Given the description of an element on the screen output the (x, y) to click on. 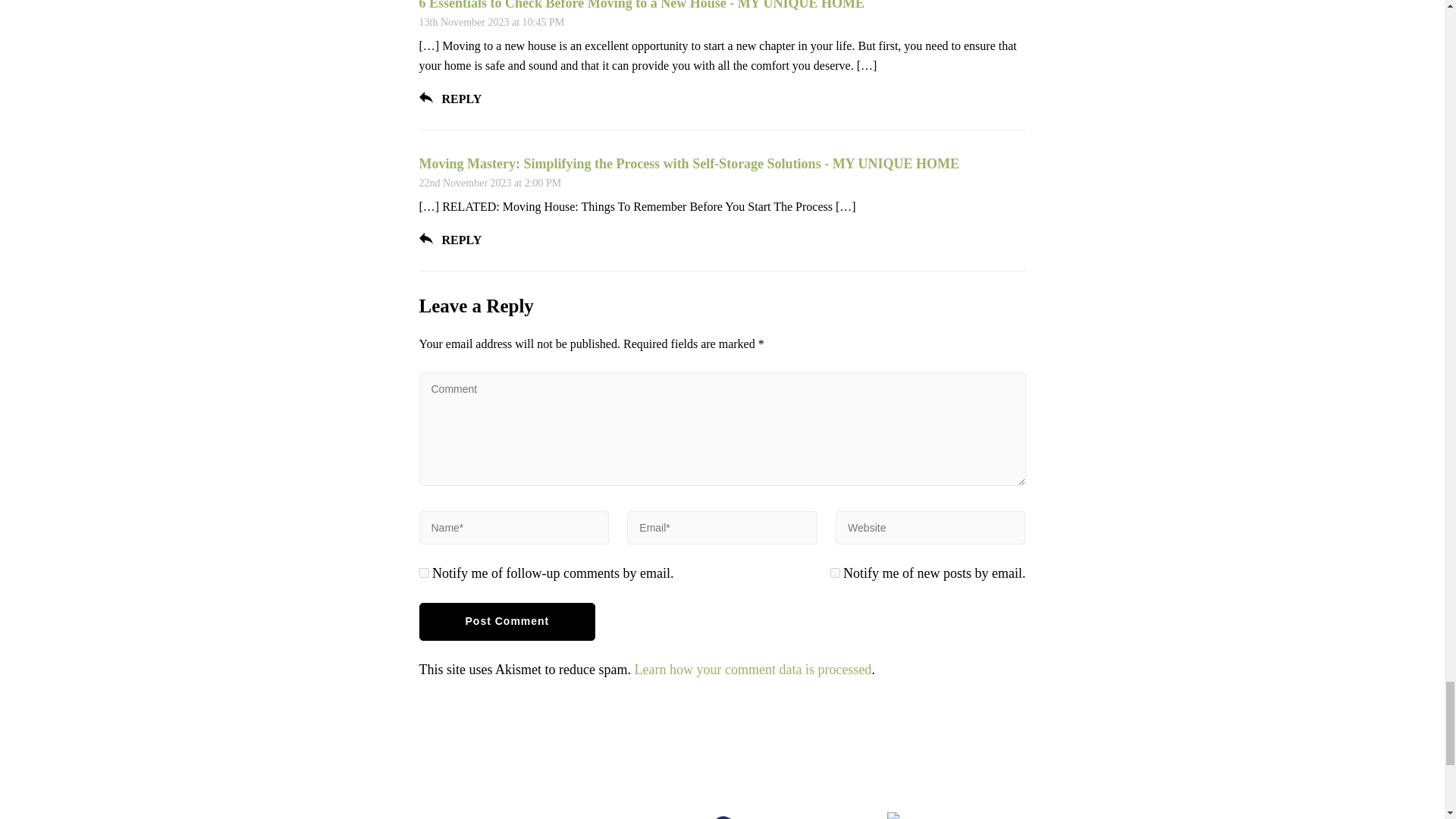
subscribe (834, 573)
Post Comment (507, 621)
subscribe (423, 573)
